Given the description of an element on the screen output the (x, y) to click on. 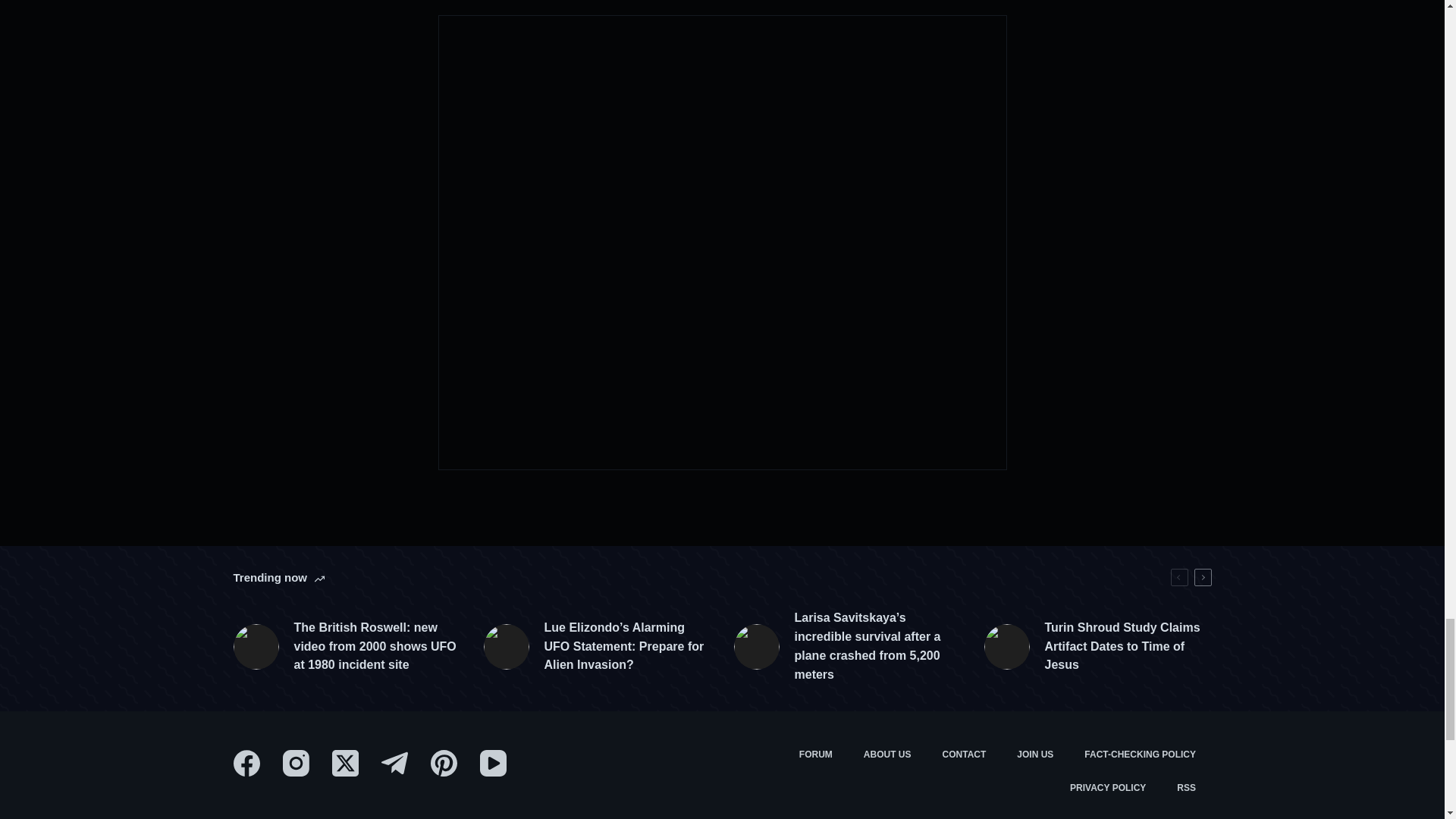
Contact us (964, 755)
Discussion Forum (815, 755)
